Given the description of an element on the screen output the (x, y) to click on. 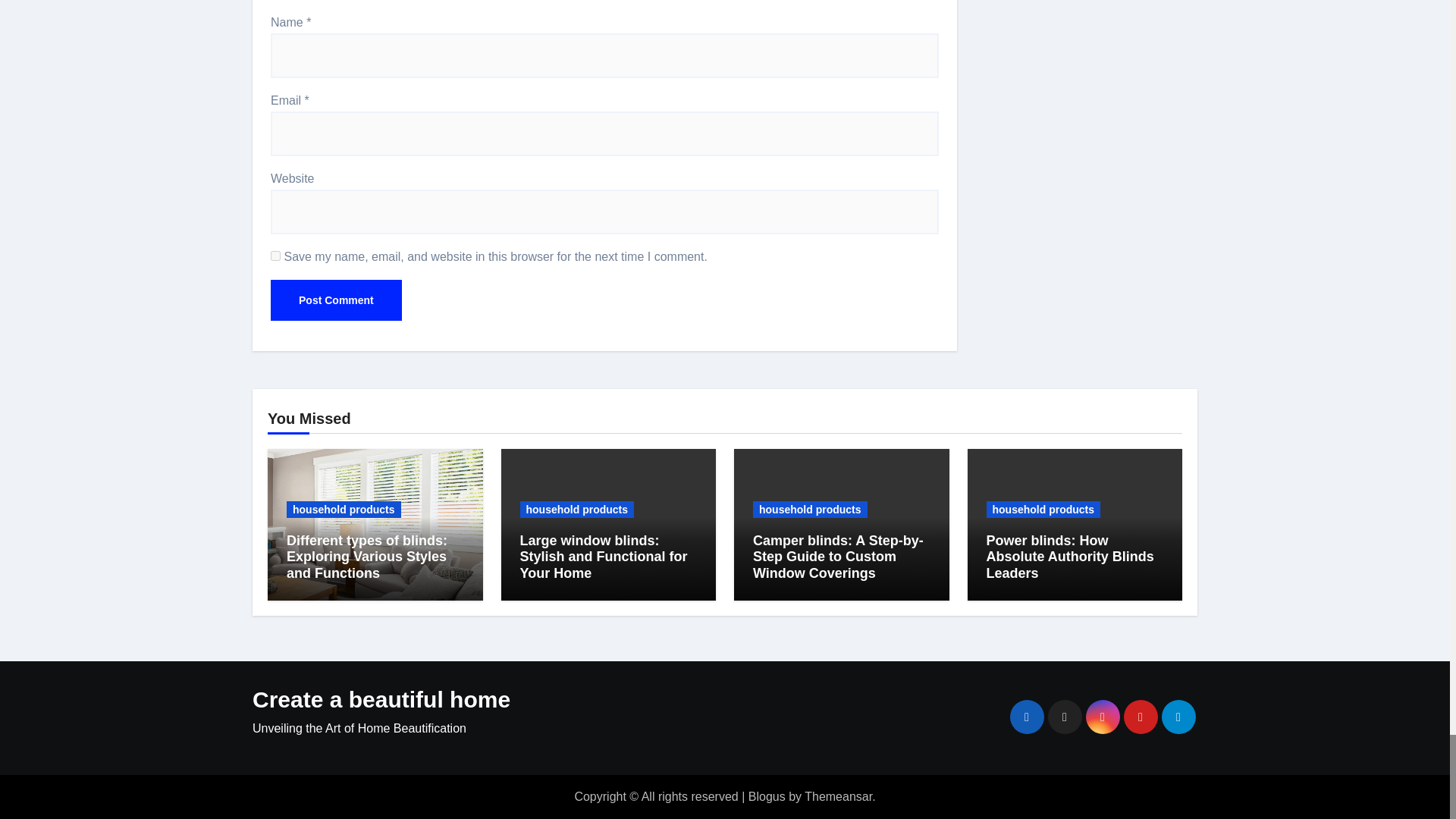
Post Comment (335, 300)
yes (275, 255)
